Given the description of an element on the screen output the (x, y) to click on. 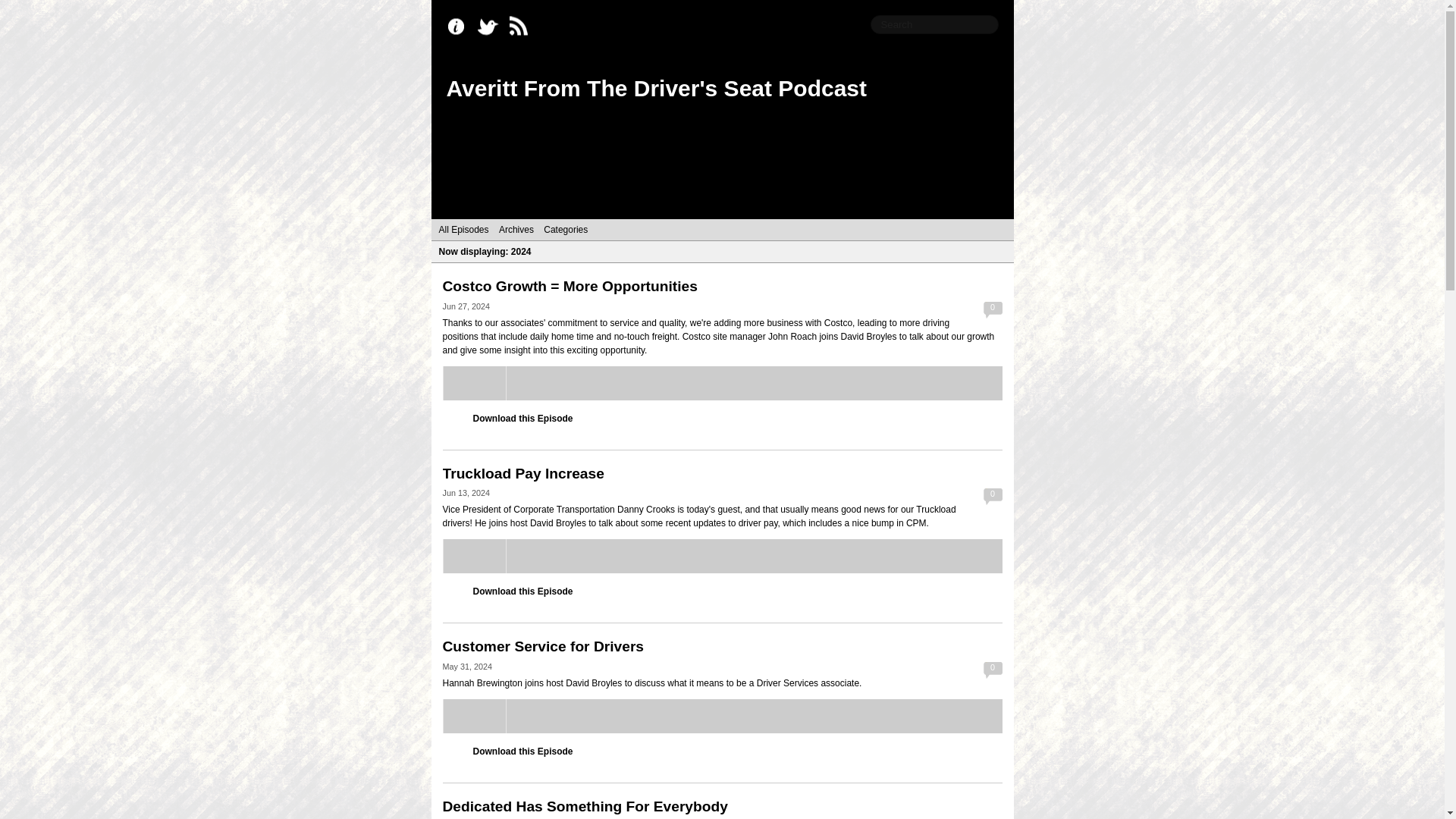
Libsyn Player (722, 716)
Twitter (491, 26)
Libsyn Player (722, 555)
RSS Feed (521, 26)
Averitt From The Driver's Seat Podcast (655, 88)
Libsyn Player (722, 383)
